Given the description of an element on the screen output the (x, y) to click on. 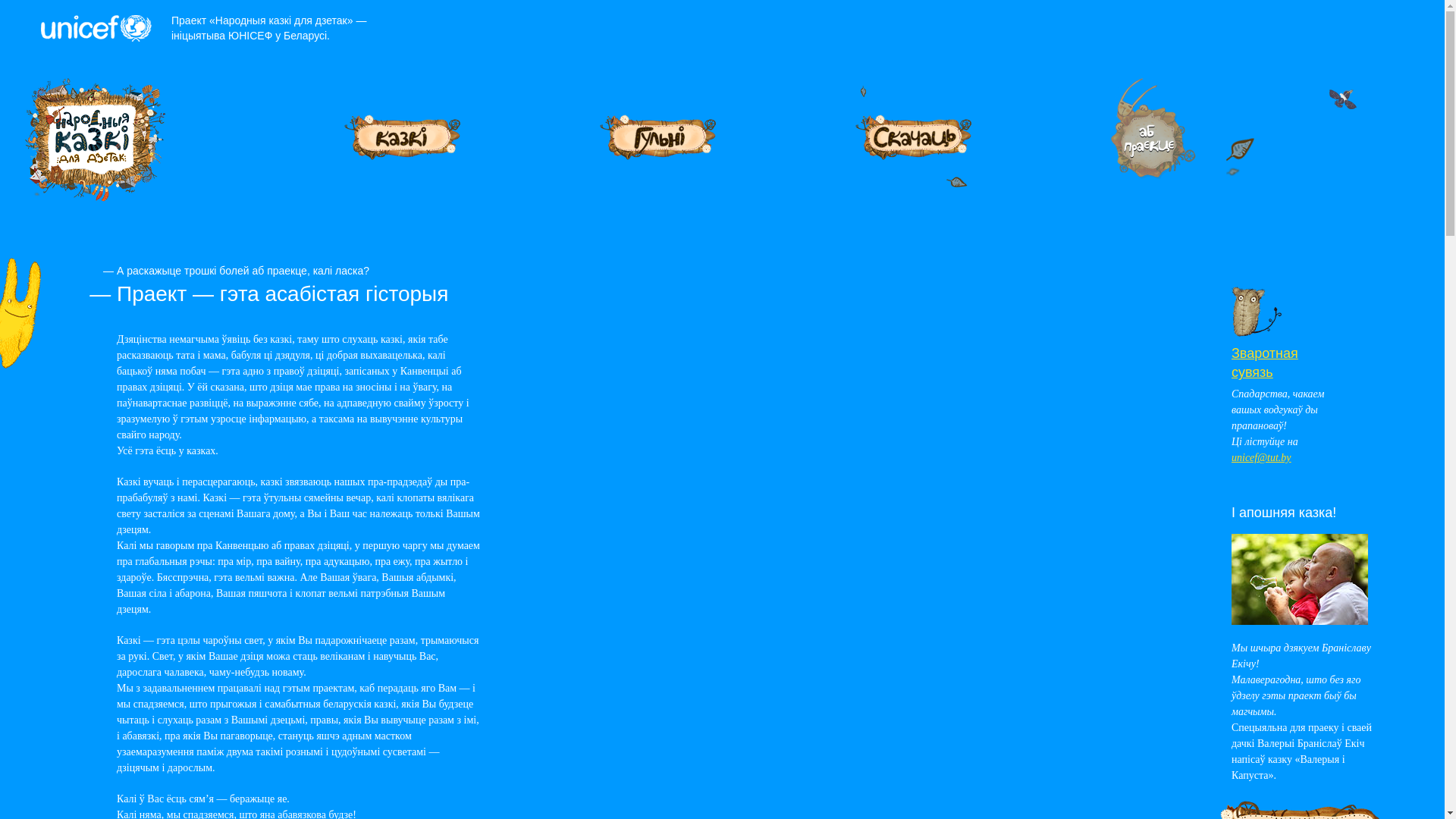
UNICEF Element type: text (95, 28)
unicef@tut.by Element type: text (1261, 457)
